Given the description of an element on the screen output the (x, y) to click on. 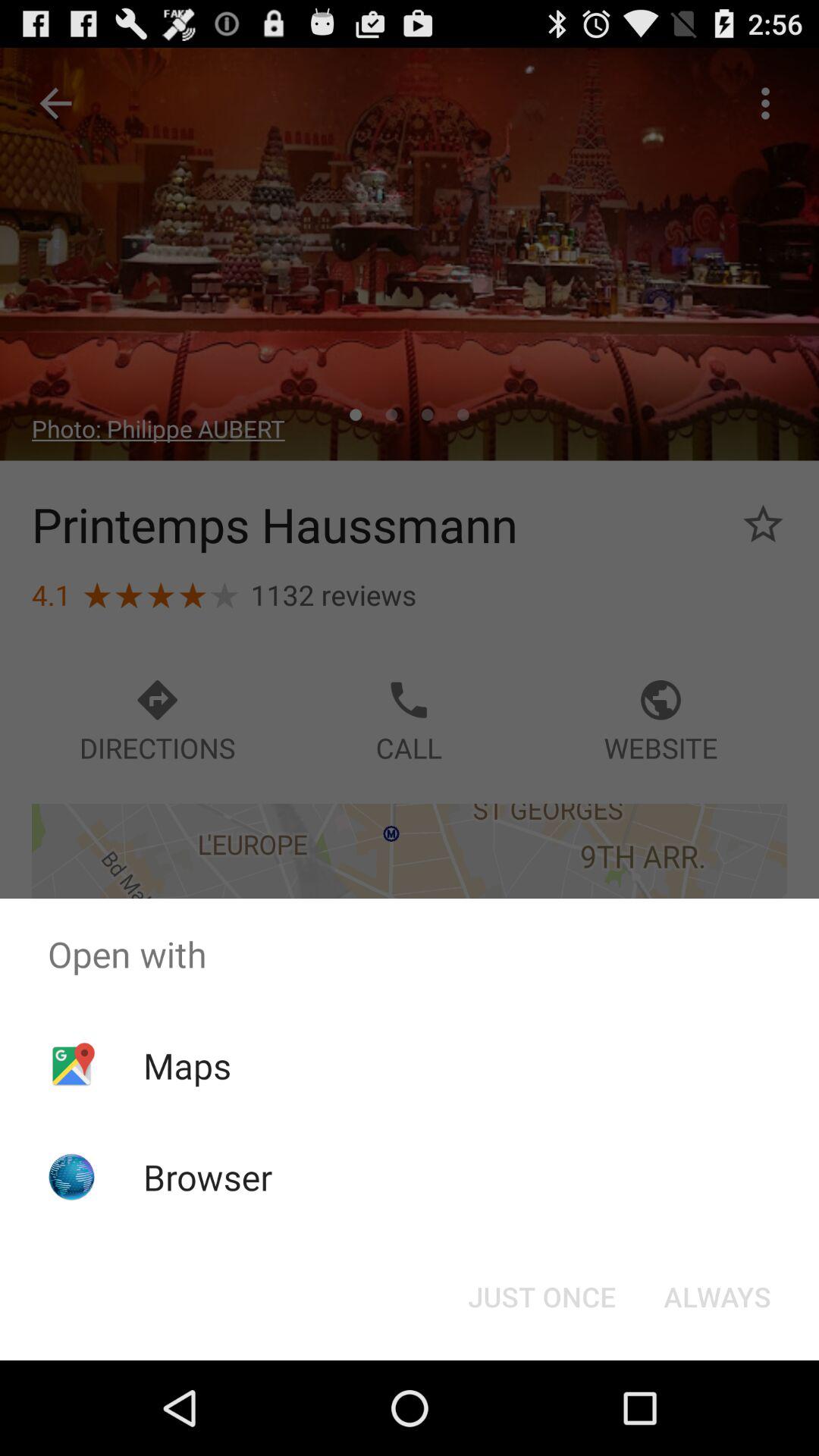
click the always at the bottom right corner (717, 1296)
